Given the description of an element on the screen output the (x, y) to click on. 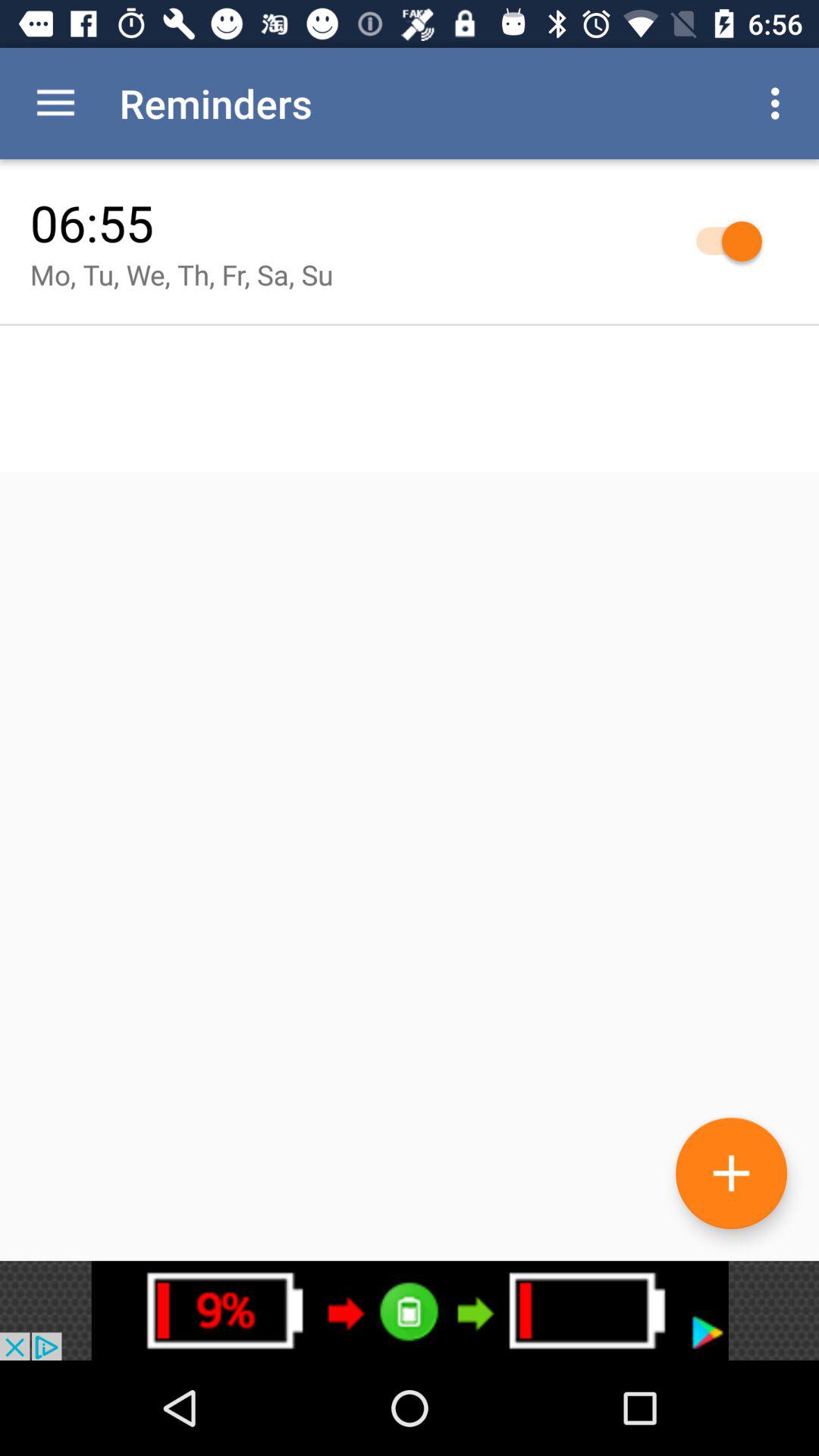
swiched (721, 240)
